Given the description of an element on the screen output the (x, y) to click on. 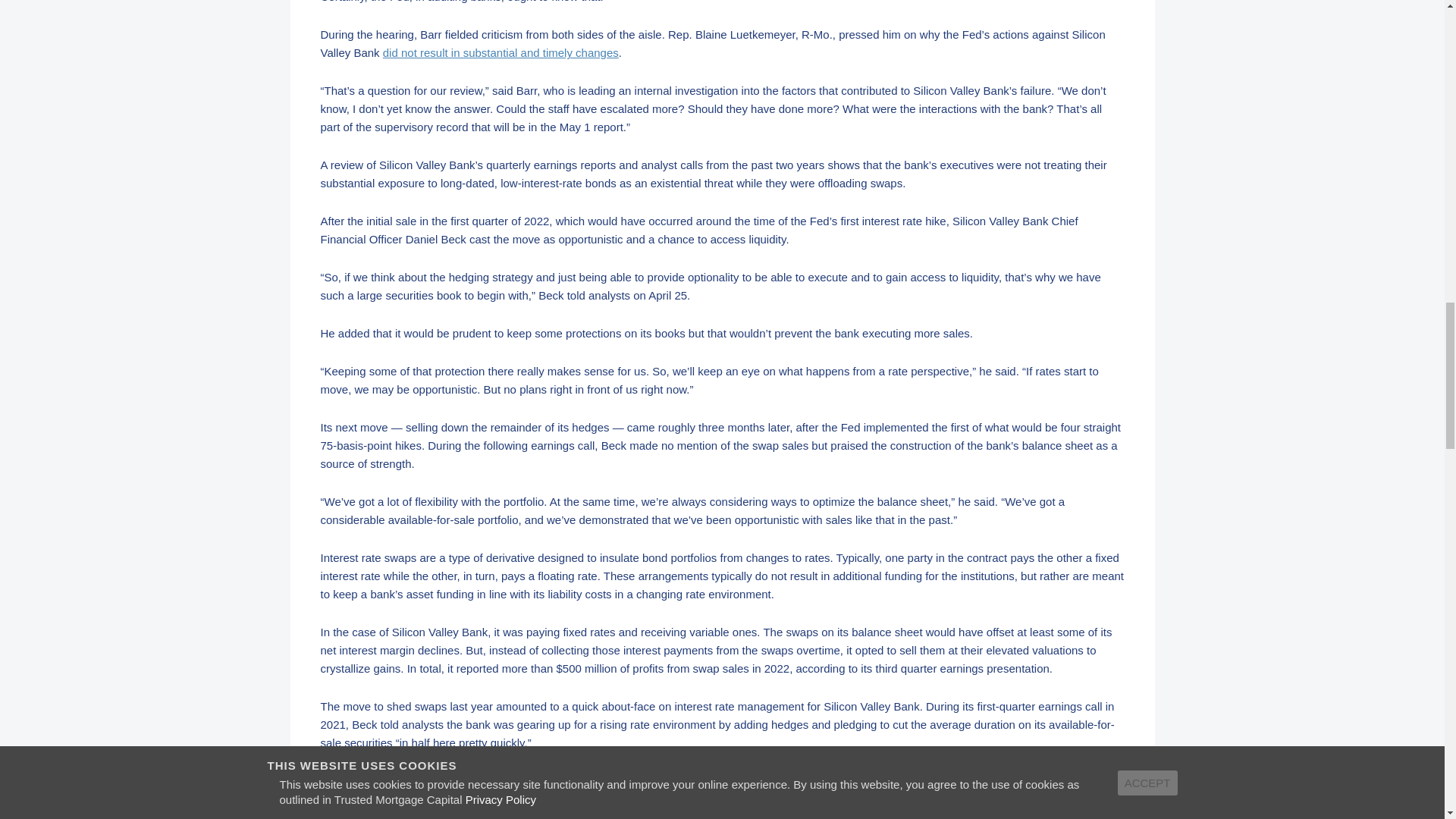
did not result in substantial and timely changes (500, 51)
